Given the description of an element on the screen output the (x, y) to click on. 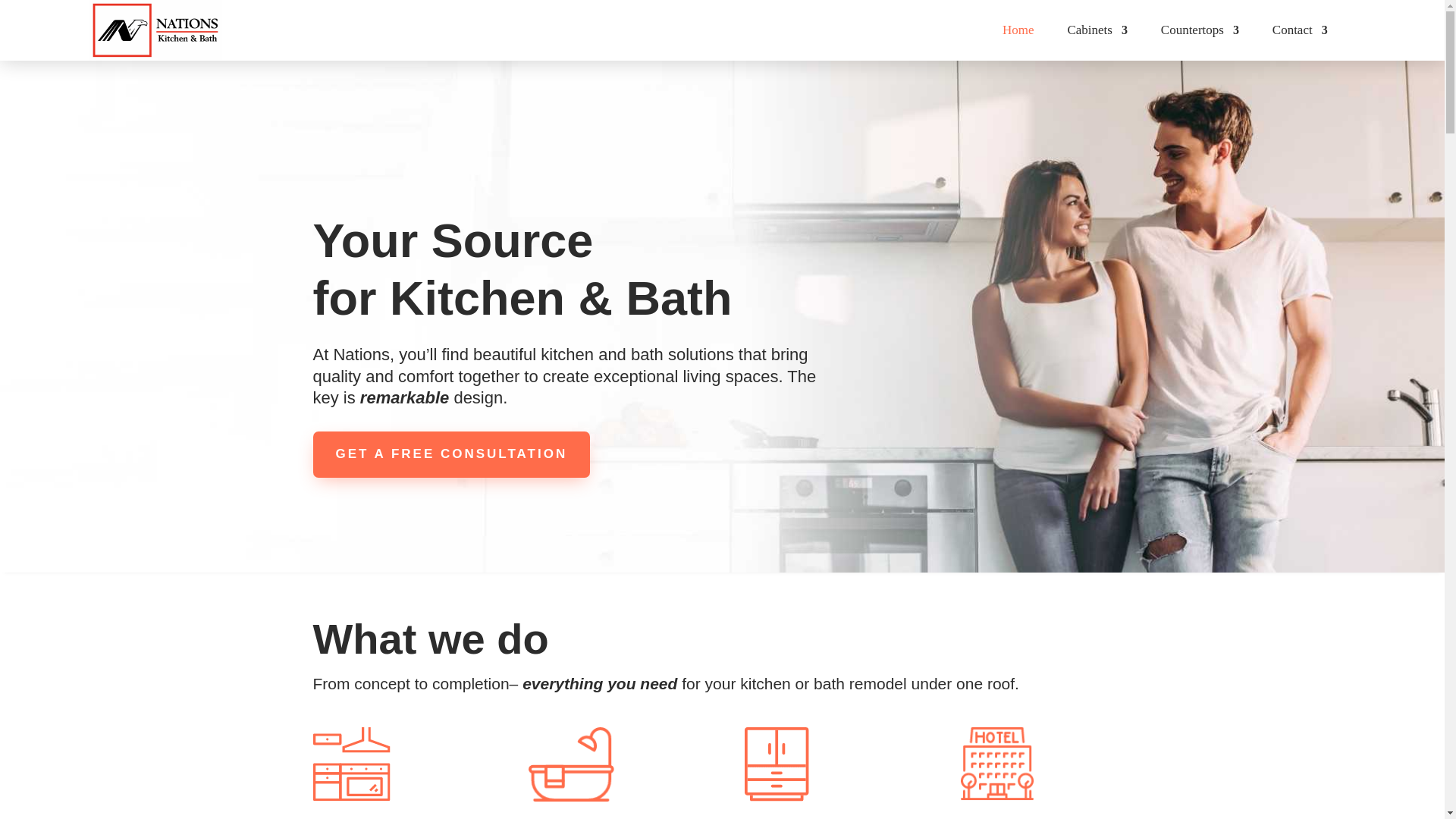
Countertops (1199, 42)
Commercial (996, 763)
Cabinets (1096, 42)
Home (1018, 42)
Bathroom Design (571, 763)
Kitchen Design (351, 764)
Contact (1299, 42)
GET A FREE CONSULTATION (451, 454)
